Given the description of an element on the screen output the (x, y) to click on. 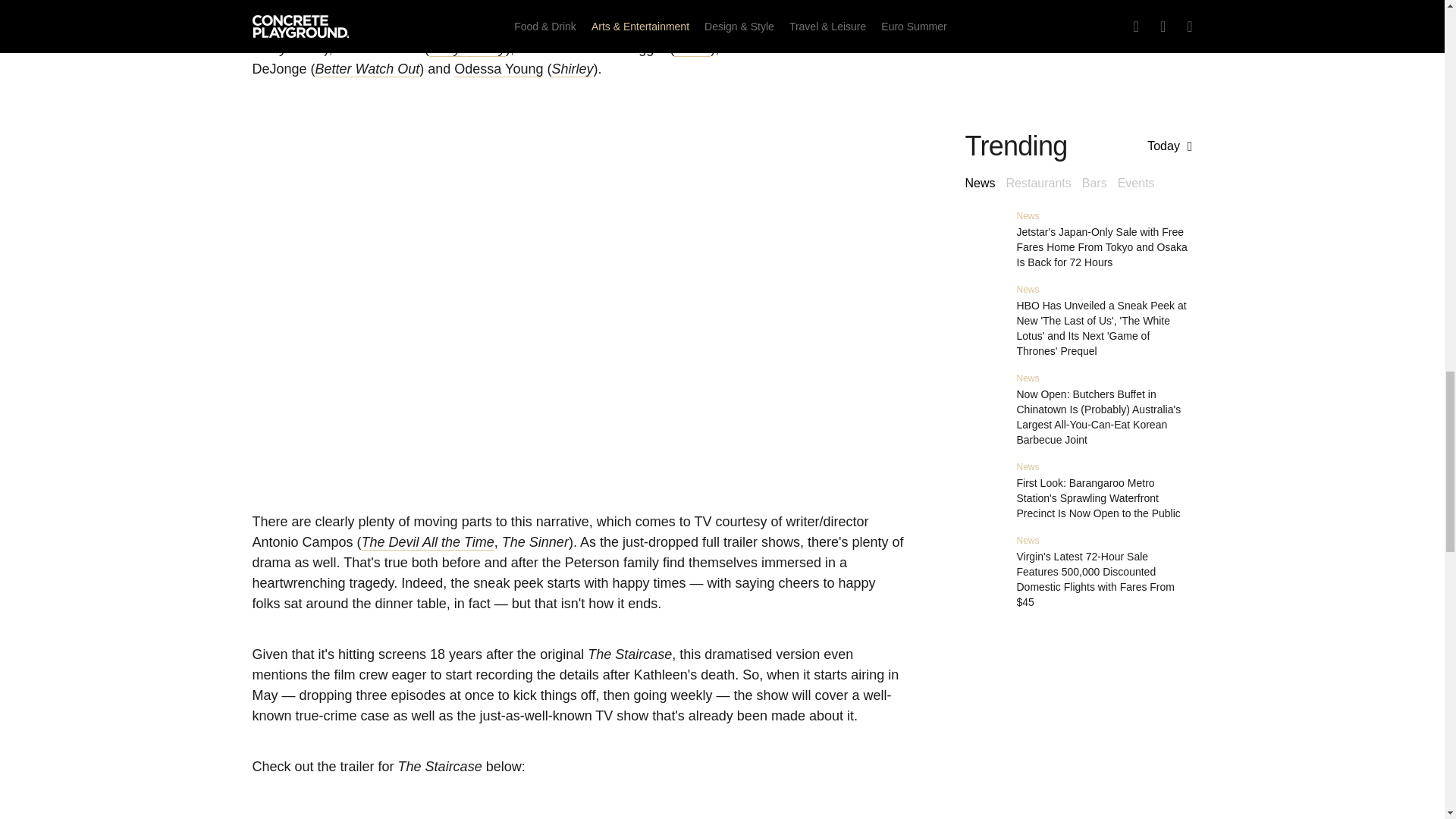
YouTube video player (577, 813)
